Given the description of an element on the screen output the (x, y) to click on. 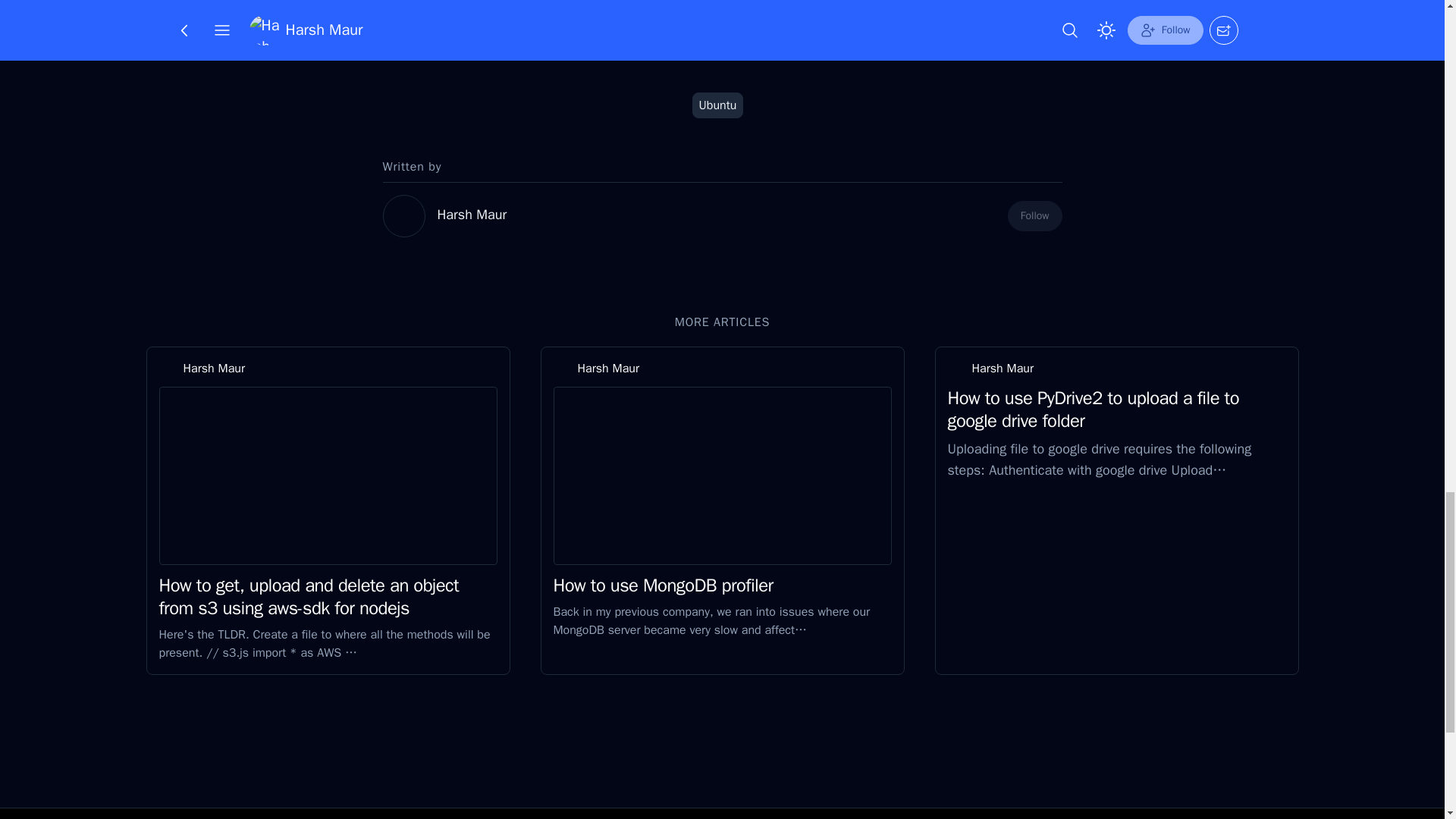
Ubuntu (718, 104)
Follow (1034, 215)
Harsh Maur (471, 214)
Harsh Maur (213, 368)
